Given the description of an element on the screen output the (x, y) to click on. 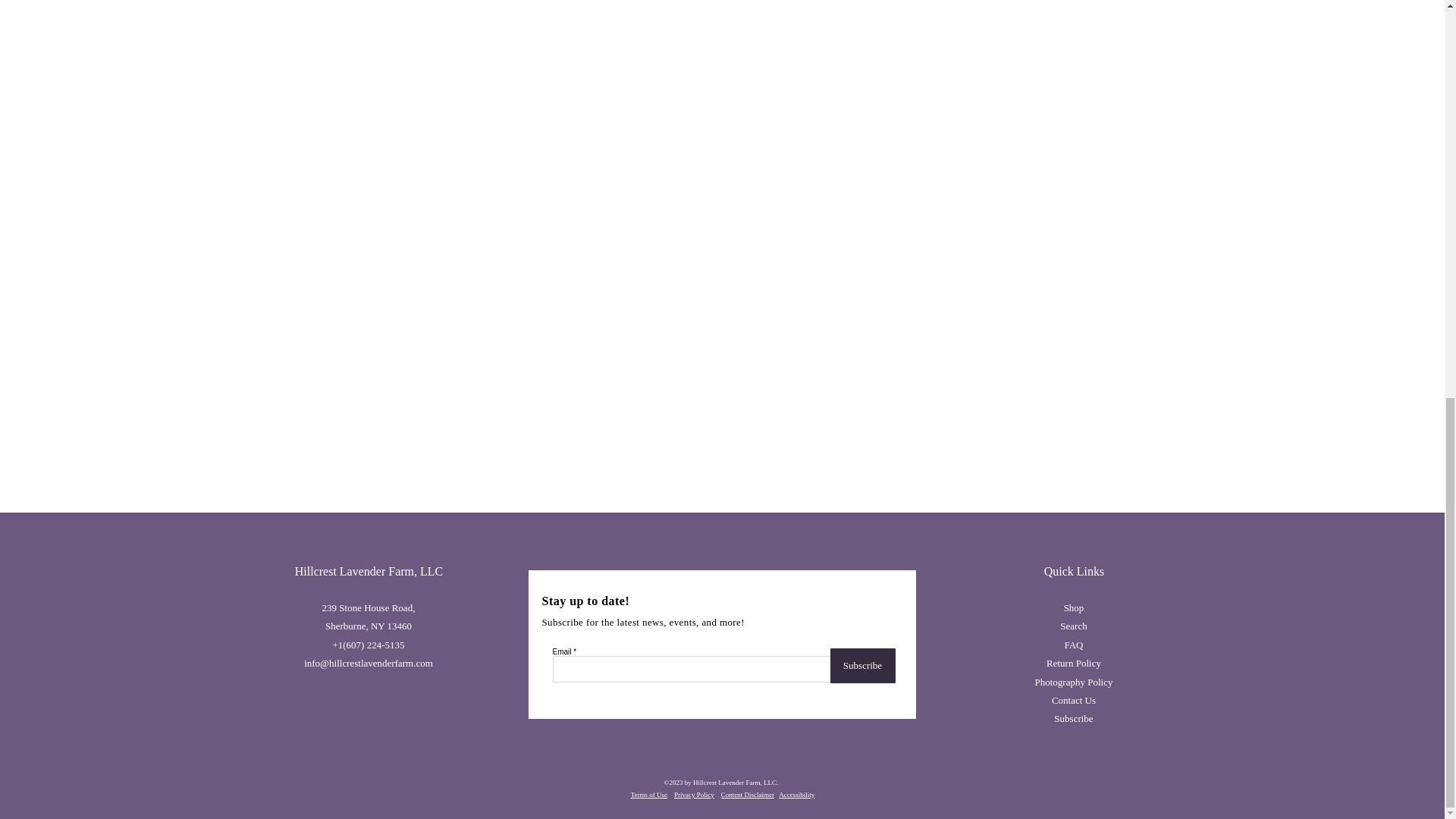
Quick Links (1074, 571)
Content Disclaimer (747, 794)
Search (1072, 625)
Terms of Use (648, 794)
Return Policy (1073, 663)
Privacy Policy (694, 794)
FAQ (1073, 644)
Hillcrest Lavender Farm, LLC (369, 571)
Shop (1074, 607)
Subscribe (1073, 717)
Subscribe (862, 665)
Photography Policy (1074, 681)
Contact Us (1073, 699)
